Given the description of an element on the screen output the (x, y) to click on. 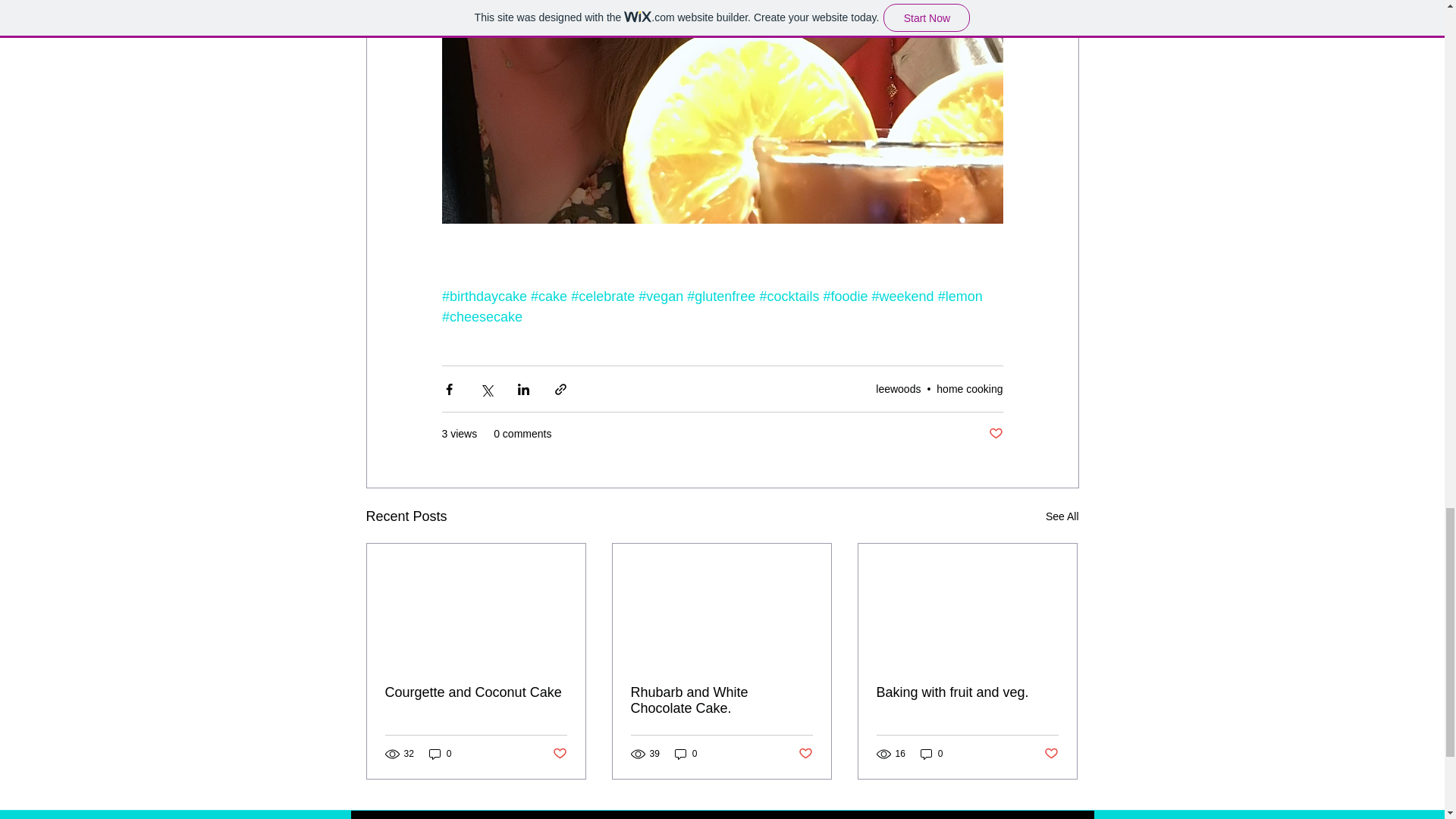
leewoods (898, 387)
home cooking (969, 387)
